Given the description of an element on the screen output the (x, y) to click on. 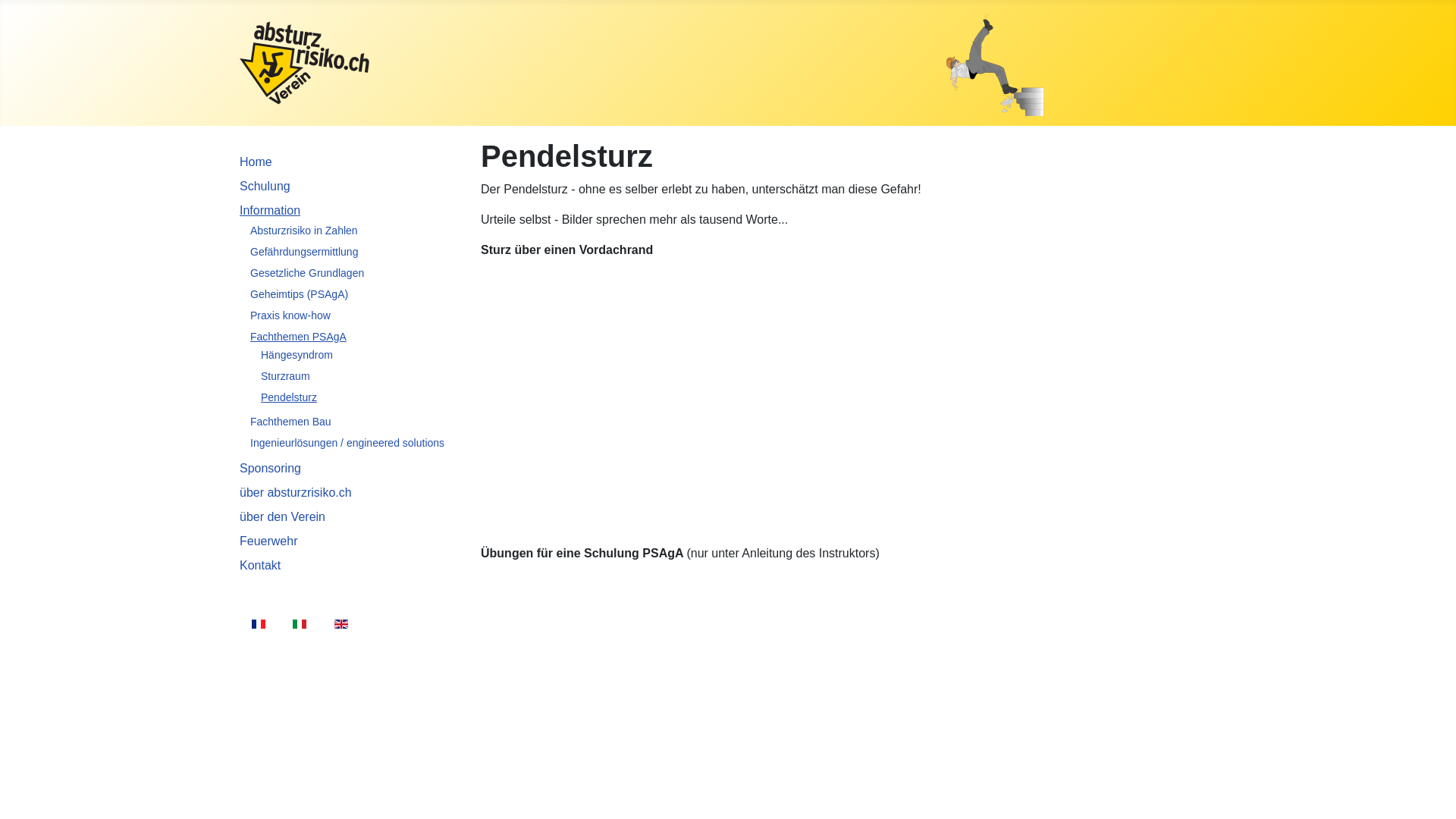
Fachthemen Bau Element type: text (290, 421)
fr Element type: hover (258, 623)
Kontakt Element type: text (259, 564)
JoomlaWorks AllVideos Player Element type: hover (854, 384)
Sponsoring Element type: text (270, 467)
Pendelsturz Element type: text (288, 397)
Geheimtips (PSAgA) Element type: text (299, 294)
Feuerwehr Element type: text (268, 540)
Fachthemen PSAgA Element type: text (298, 336)
Sturzraum Element type: text (285, 376)
Absturzrisiko in Zahlen Element type: text (303, 230)
JoomlaWorks AllVideos Player Element type: hover (854, 688)
English (UK) Element type: hover (341, 623)
Home Element type: text (255, 161)
Information Element type: text (269, 209)
Schulung Element type: text (264, 185)
Praxis know-how Element type: text (290, 315)
it Element type: hover (299, 623)
Gesetzliche Grundlagen Element type: text (307, 272)
